Given the description of an element on the screen output the (x, y) to click on. 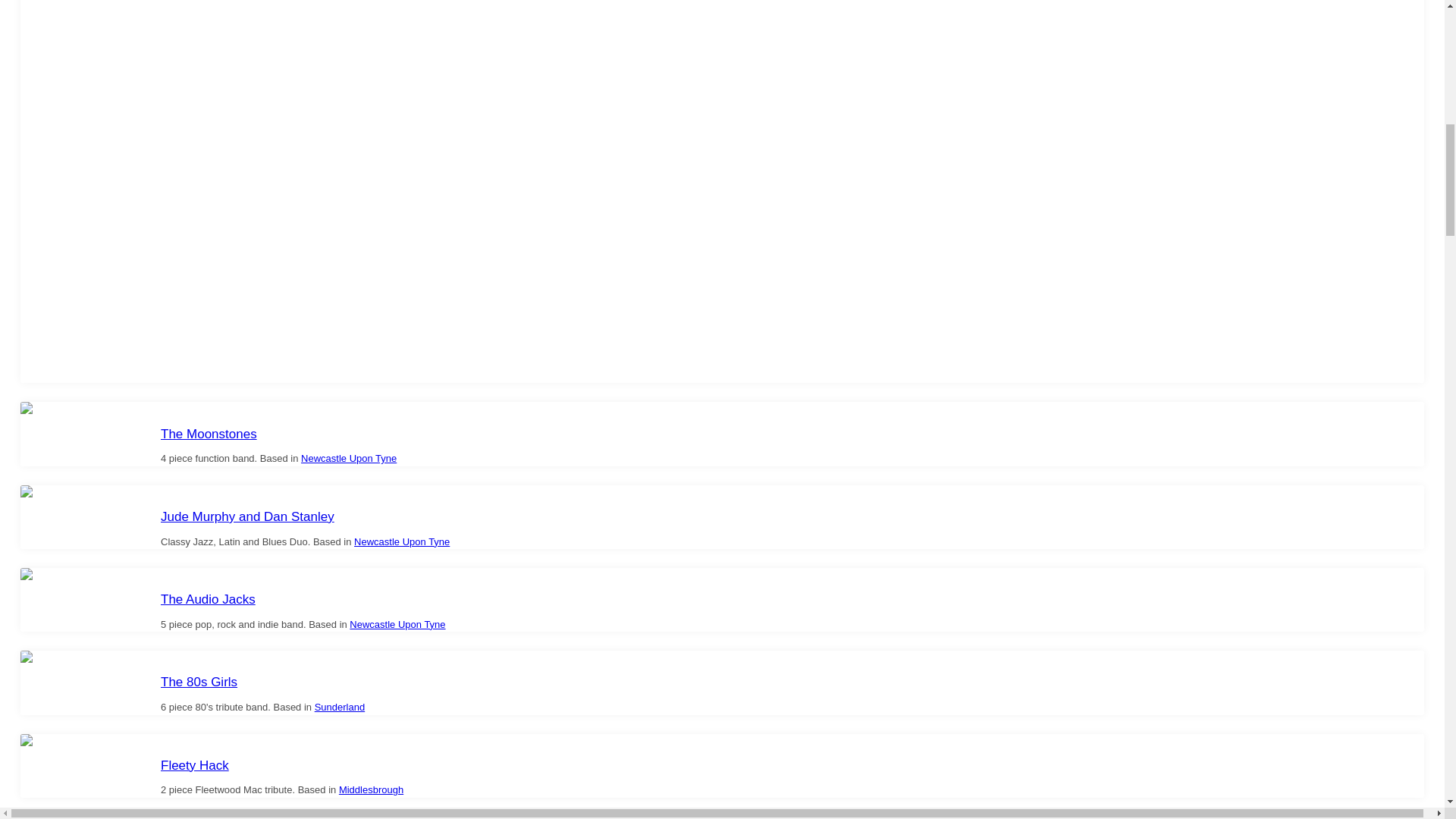
Newcastle Upon Tyne (401, 541)
Sunderland (339, 706)
The Audio Jacks (208, 599)
The Moonstones (208, 433)
The 80s Girls (198, 681)
Newcastle Upon Tyne (348, 458)
Jude Murphy and Dan Stanley (247, 516)
Newcastle Upon Tyne (397, 624)
